Given the description of an element on the screen output the (x, y) to click on. 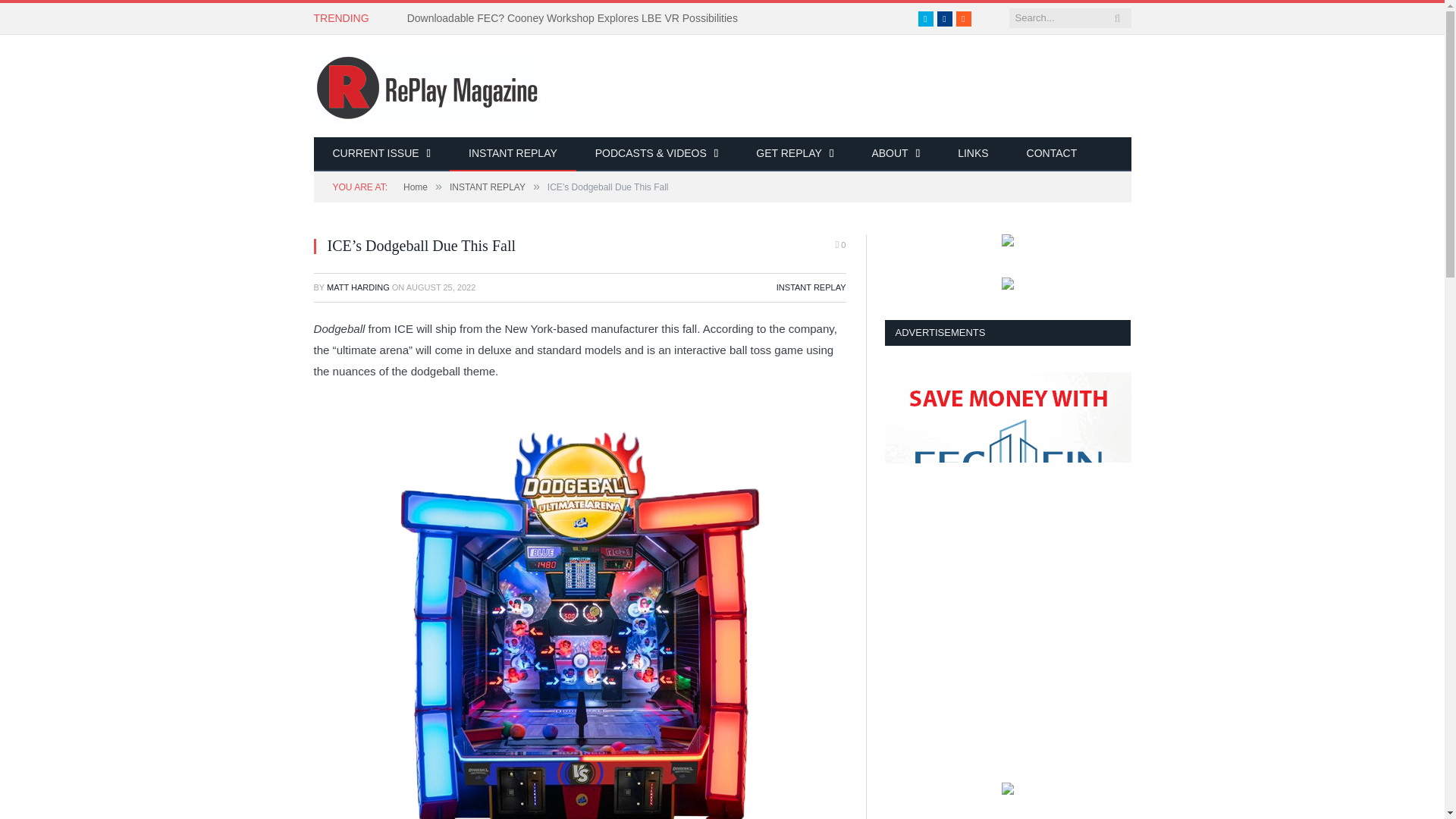
CURRENT ISSUE (381, 154)
Twitter (925, 18)
INSTANT REPLAY (512, 154)
Posts by Matt Harding (358, 286)
Facebook (944, 18)
Facebook (944, 18)
RSS (963, 18)
RePlay Magazine (427, 85)
Twitter (925, 18)
